Given the description of an element on the screen output the (x, y) to click on. 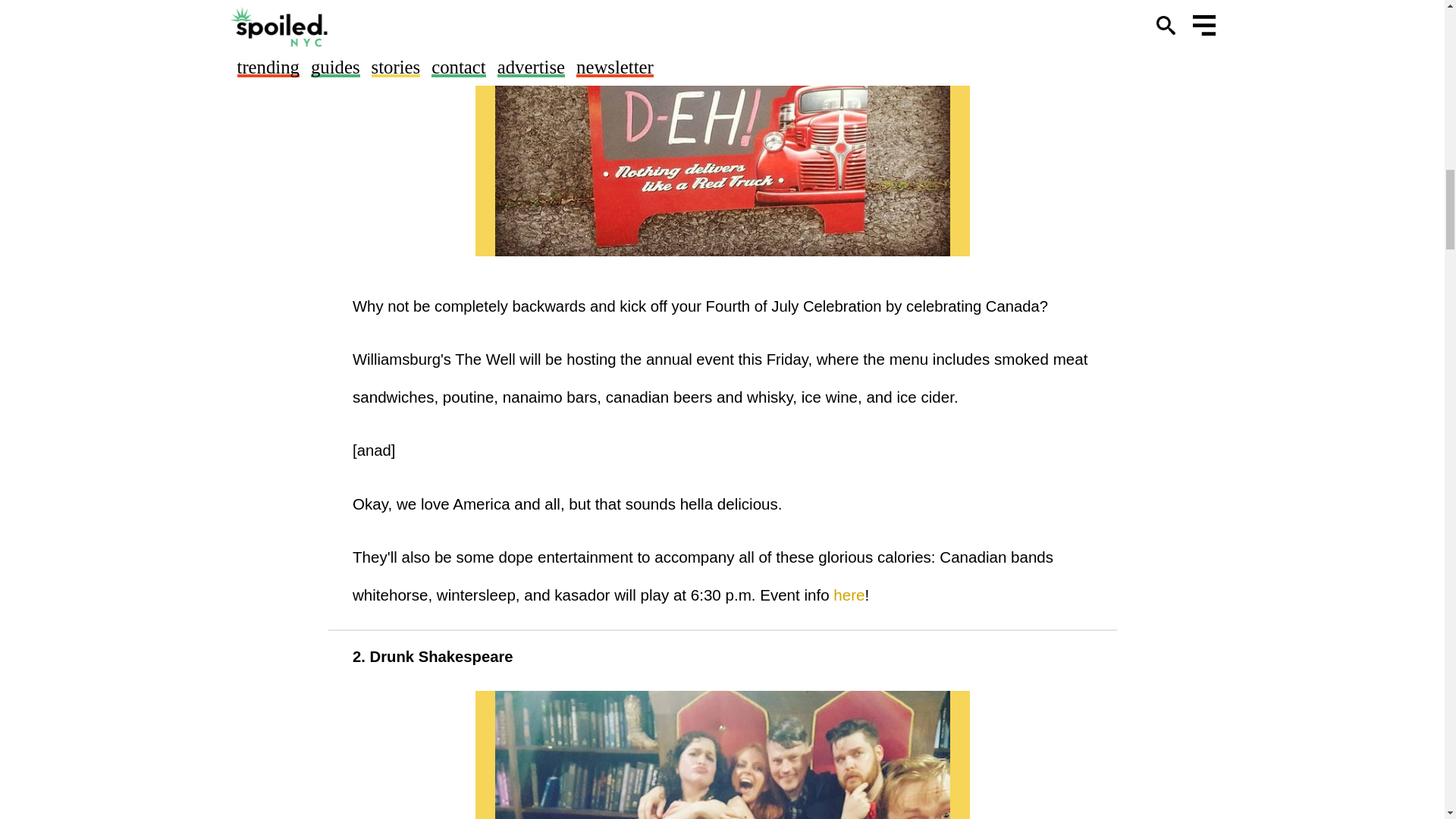
here (848, 594)
